Given the description of an element on the screen output the (x, y) to click on. 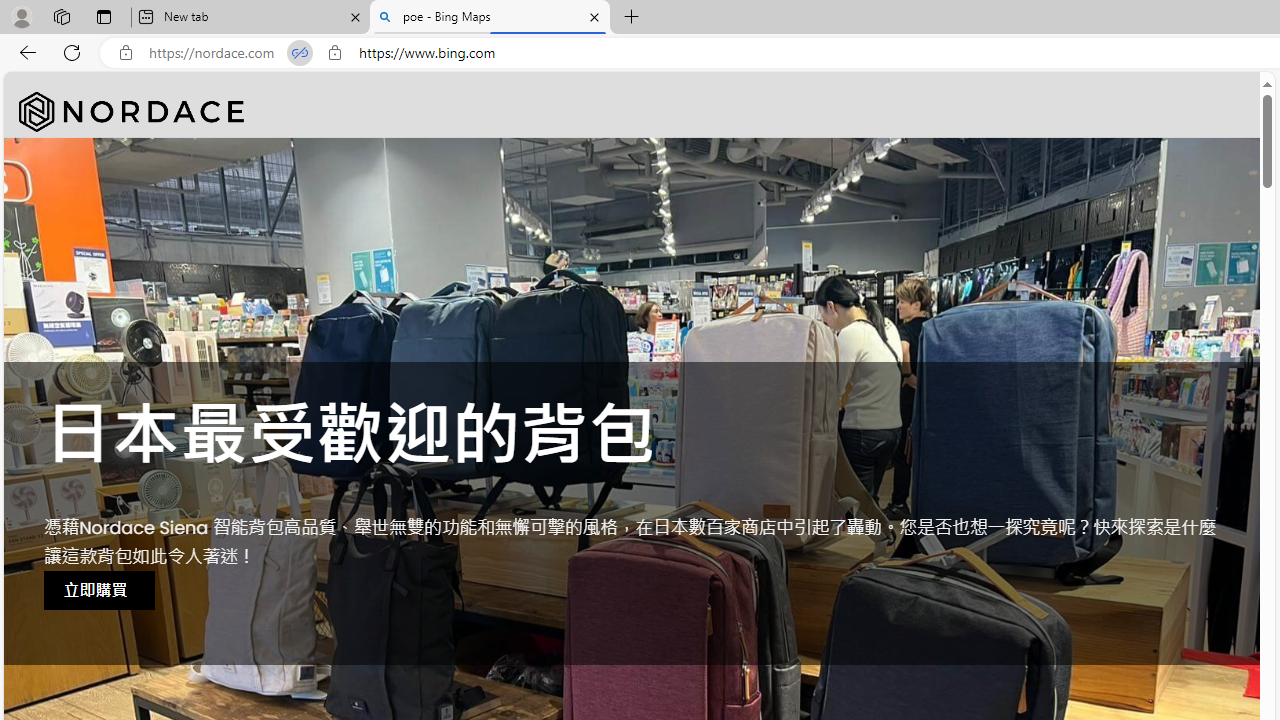
Tabs in split screen (299, 53)
poe - Bing Maps (490, 17)
